Given the description of an element on the screen output the (x, y) to click on. 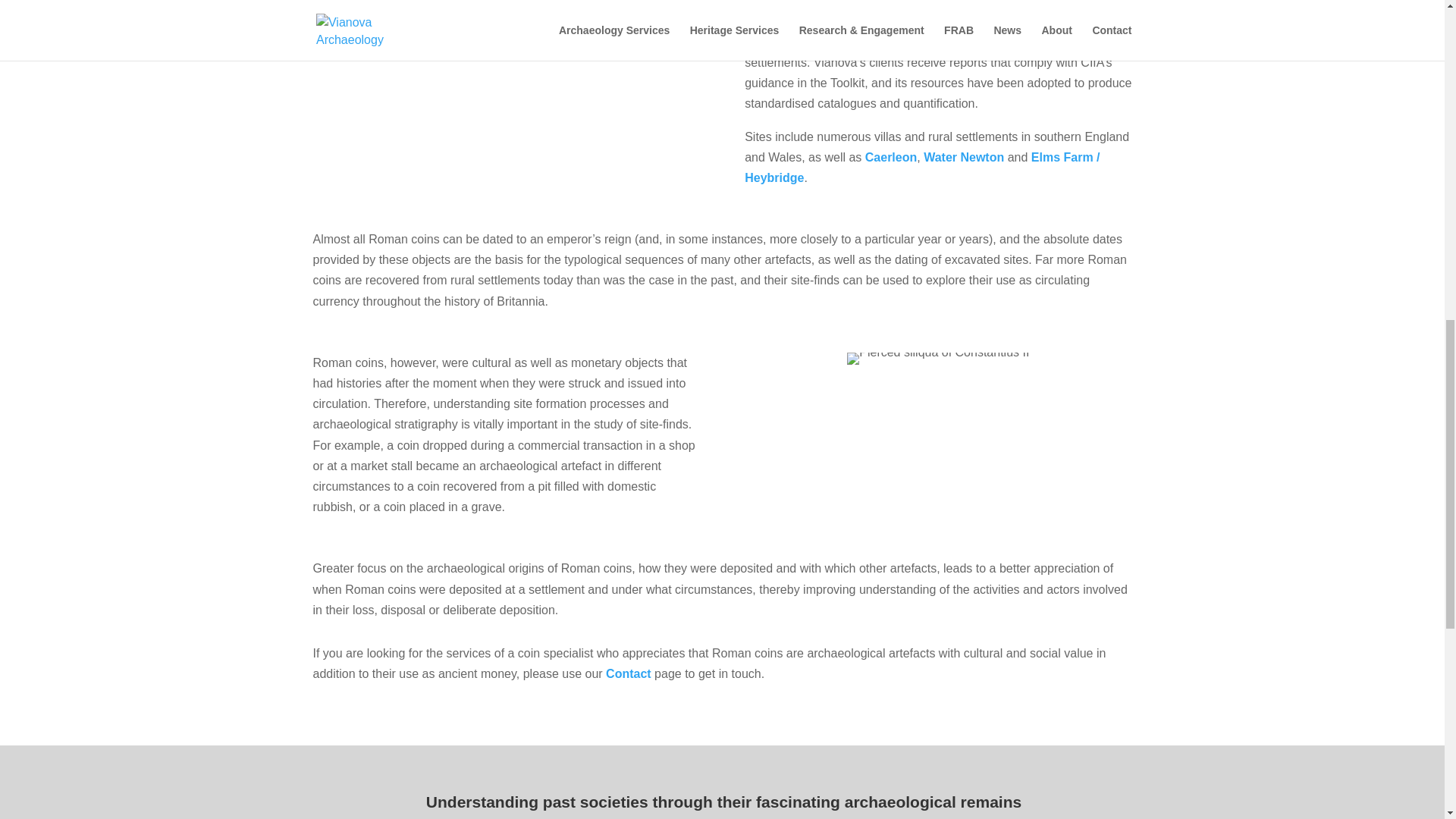
Pierced siliqua of Constantius II (938, 358)
Caerleon (890, 156)
Water Newton (963, 156)
Contact (627, 673)
